Given the description of an element on the screen output the (x, y) to click on. 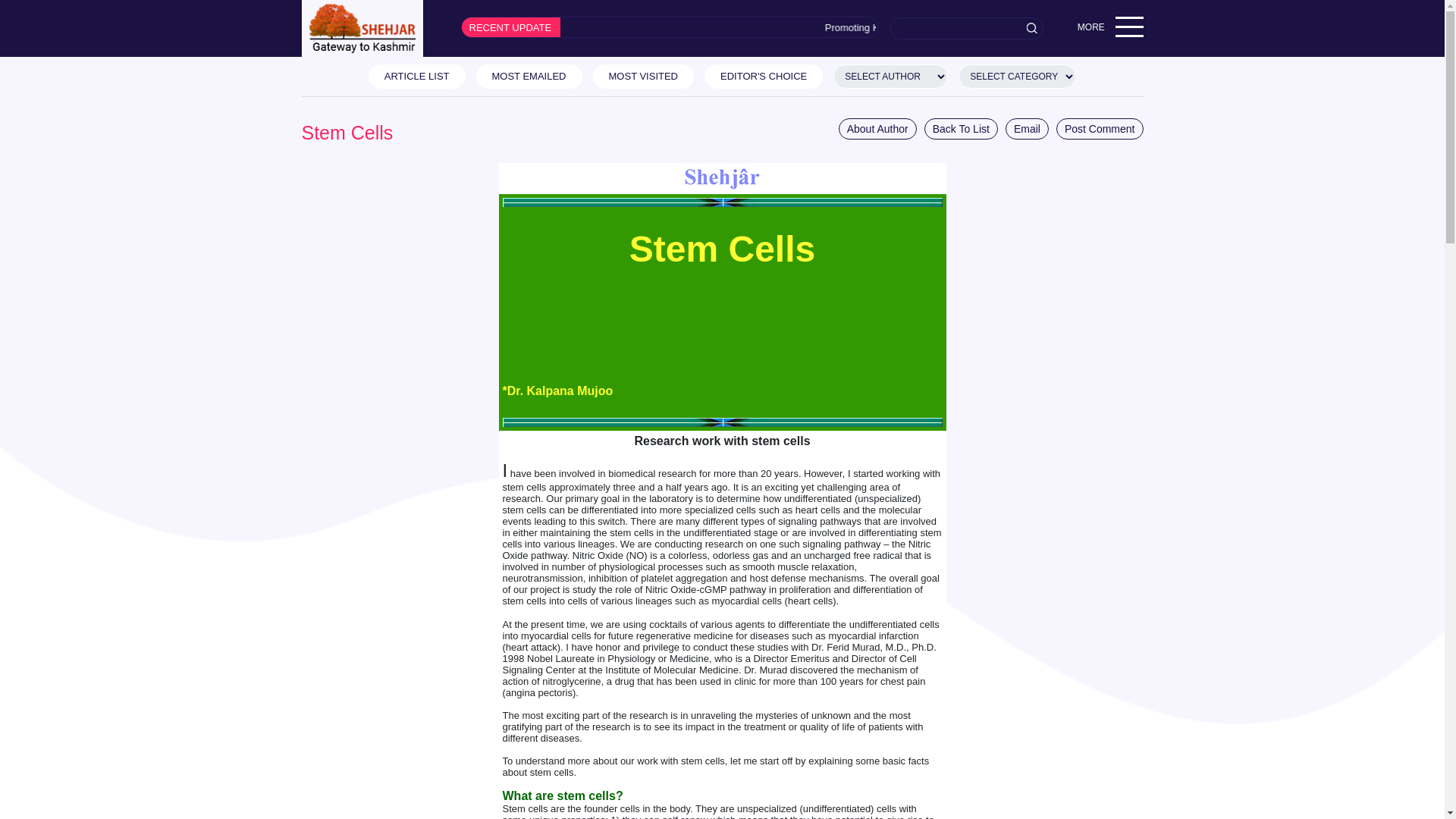
MOST VISITED (643, 76)
MOST EMAILED (529, 76)
EDITOR'S CHOICE (763, 76)
ARTICLE LIST (416, 76)
Post Comment (1099, 128)
Back To List (960, 128)
About Author (877, 128)
Email (1027, 128)
